Given the description of an element on the screen output the (x, y) to click on. 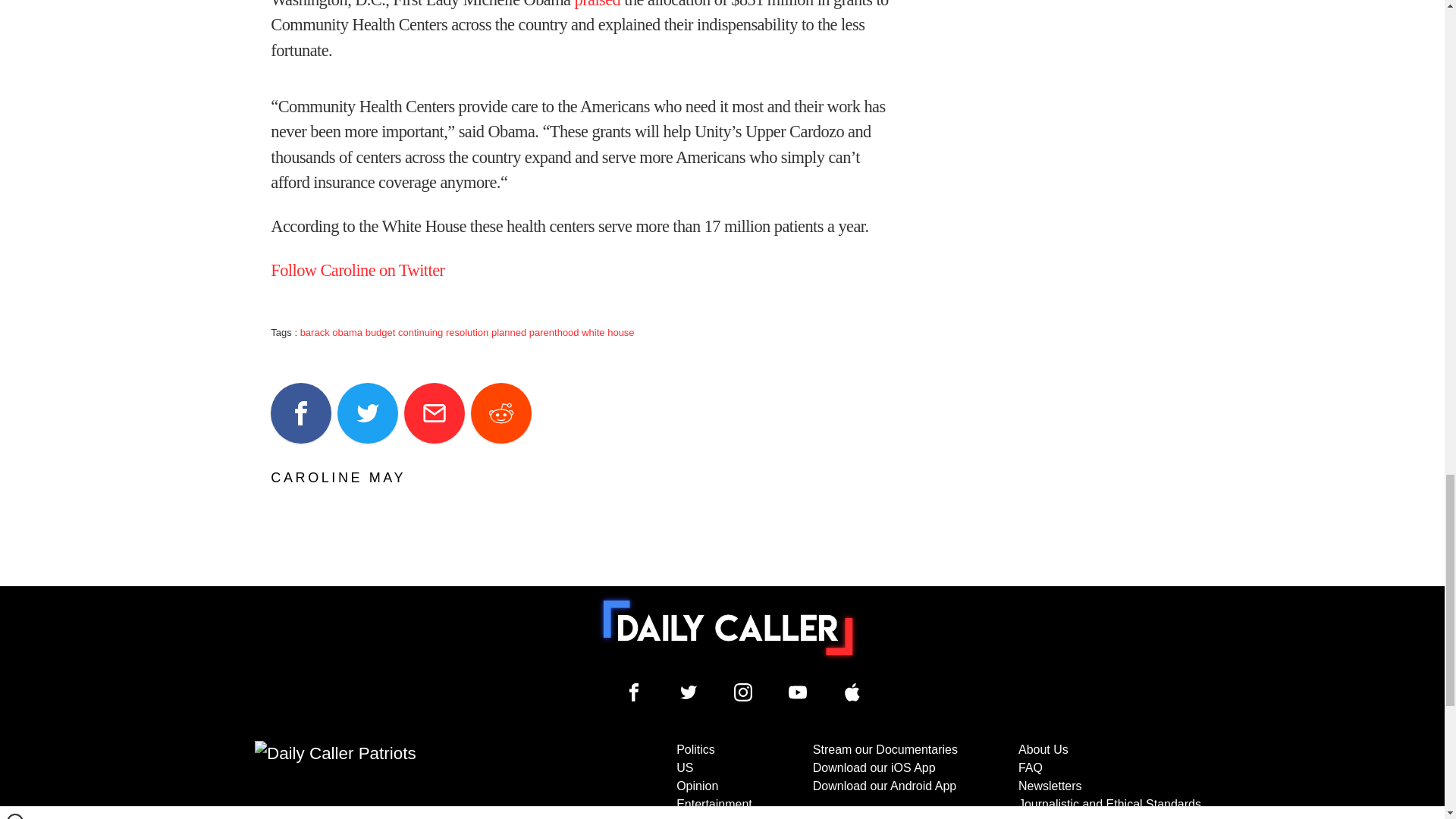
Daily Caller Instagram (742, 692)
Subscribe to The Daily Caller (405, 780)
To home page (727, 627)
Follow Caroline on Twitter (357, 270)
Daily Caller YouTube (797, 692)
Daily Caller Twitter (688, 692)
Daily Caller Facebook (633, 692)
Daily Caller YouTube (852, 692)
praised (598, 4)
